Given the description of an element on the screen output the (x, y) to click on. 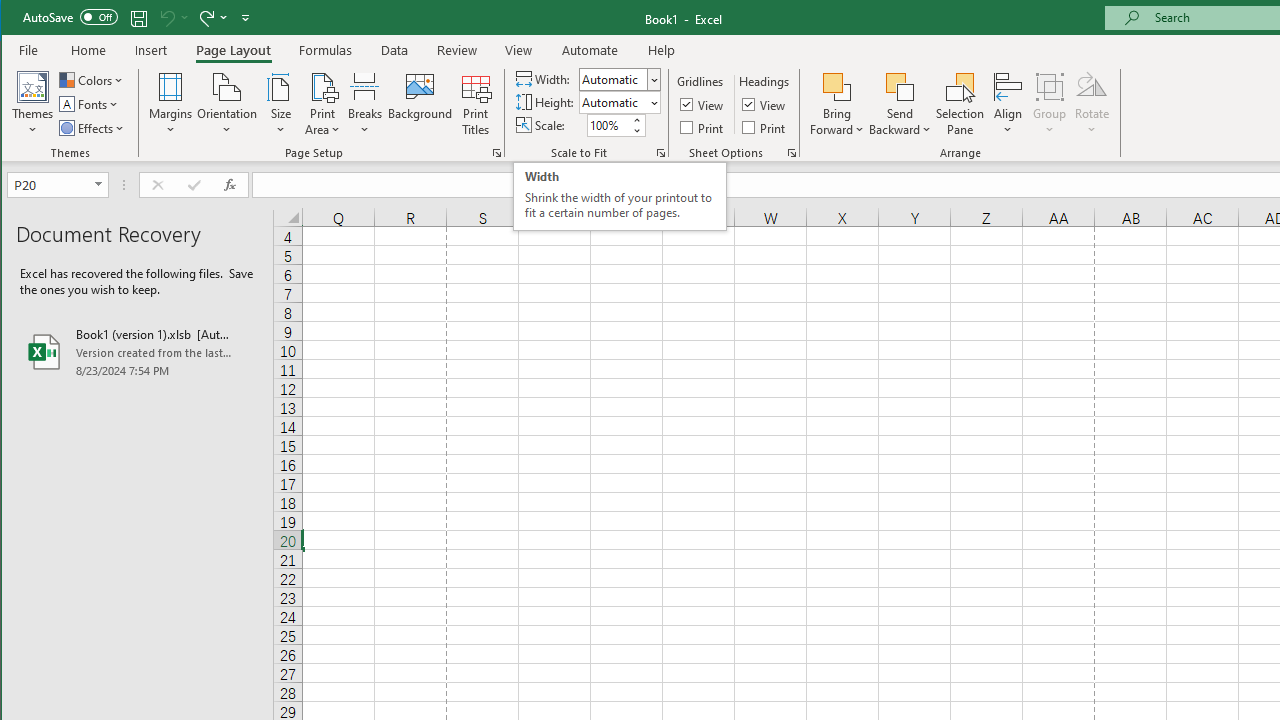
Selection Pane... (960, 104)
Themes (33, 104)
Send Backward (900, 104)
Bring Forward (836, 104)
Background... (420, 104)
Colors (93, 80)
Print Area (323, 104)
Print Titles (475, 104)
